Given the description of an element on the screen output the (x, y) to click on. 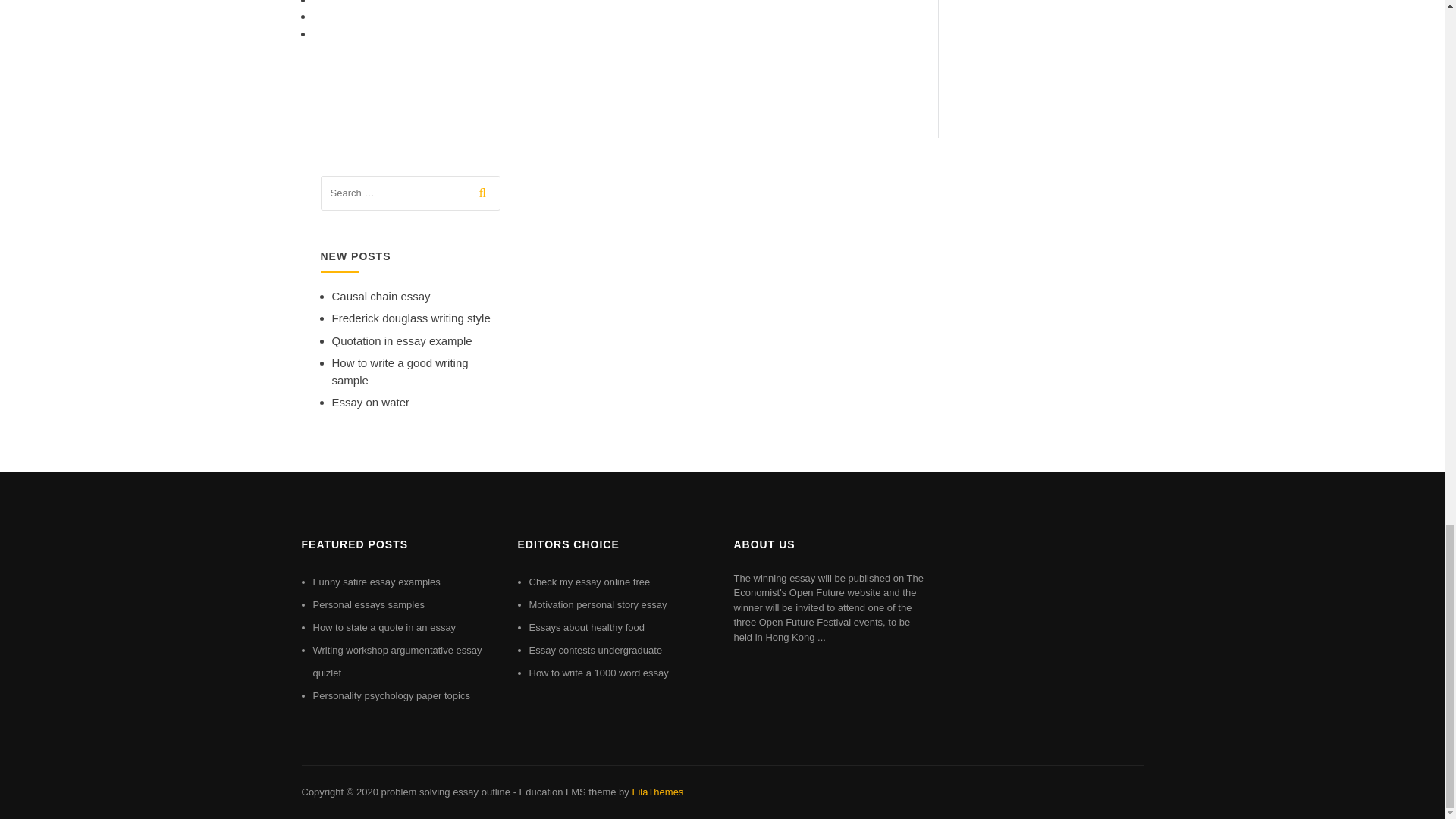
Quotation in essay example (401, 340)
How to write a 1000 word essay (598, 672)
How to write a good writing sample (399, 371)
Essay on water (370, 401)
Essay contests undergraduate (595, 650)
Causal chain essay (380, 295)
Personal essays samples (368, 604)
Writing workshop argumentative essay quizlet (397, 661)
problem solving essay outline (445, 791)
Personality psychology paper topics (390, 695)
How to state a quote in an essay (384, 627)
Funny satire essay examples (376, 582)
Check my essay online free (589, 582)
Frederick douglass writing style (410, 318)
Motivation personal story essay (597, 604)
